Given the description of an element on the screen output the (x, y) to click on. 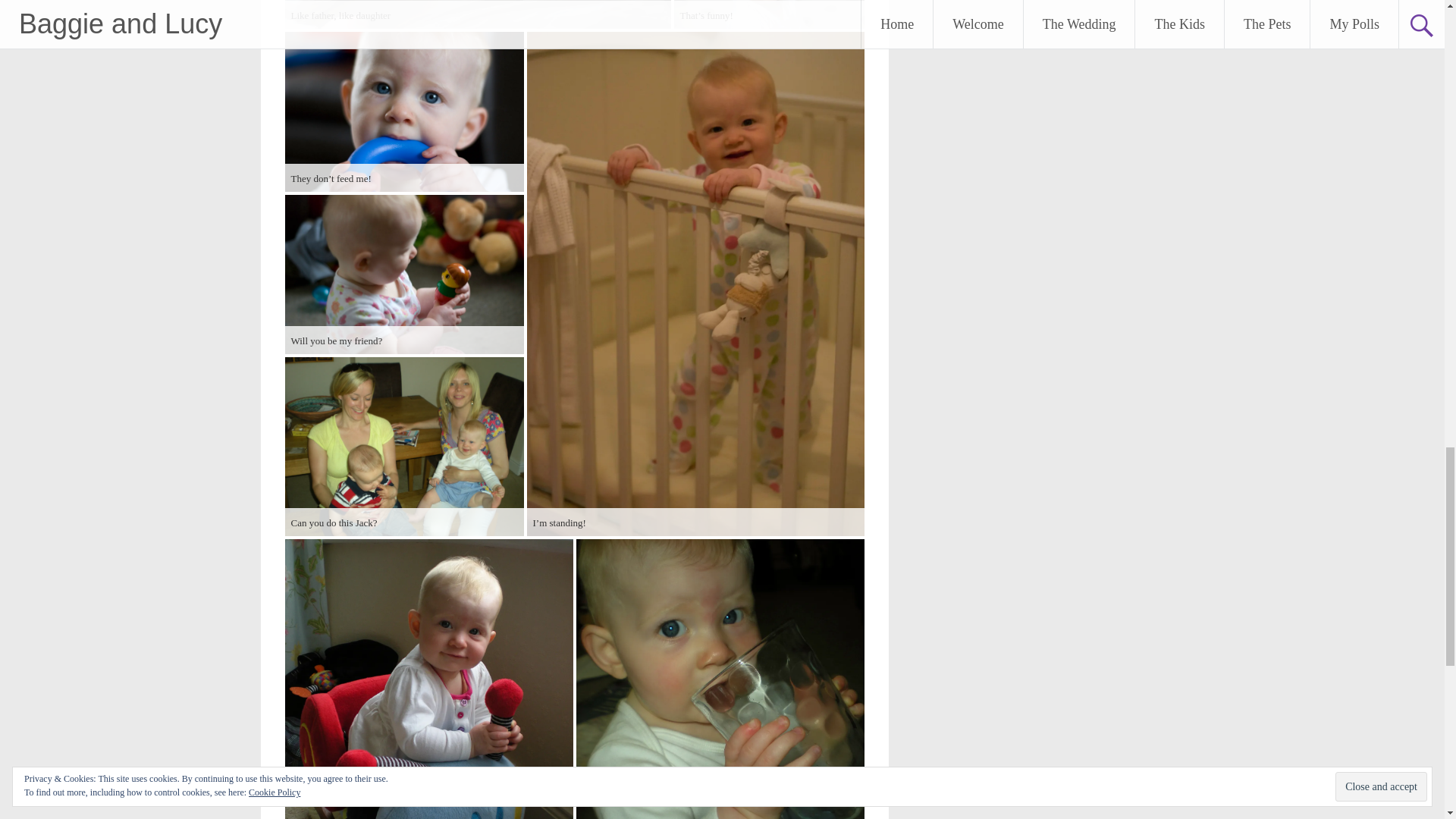
Will you be my friend? (404, 273)
Can you do this Jack? (404, 446)
Look at me! (429, 678)
They don't feed me! (404, 111)
Like father, like daughter (478, 14)
That's funny! (767, 14)
I'm so grown up! (720, 678)
